Given the description of an element on the screen output the (x, y) to click on. 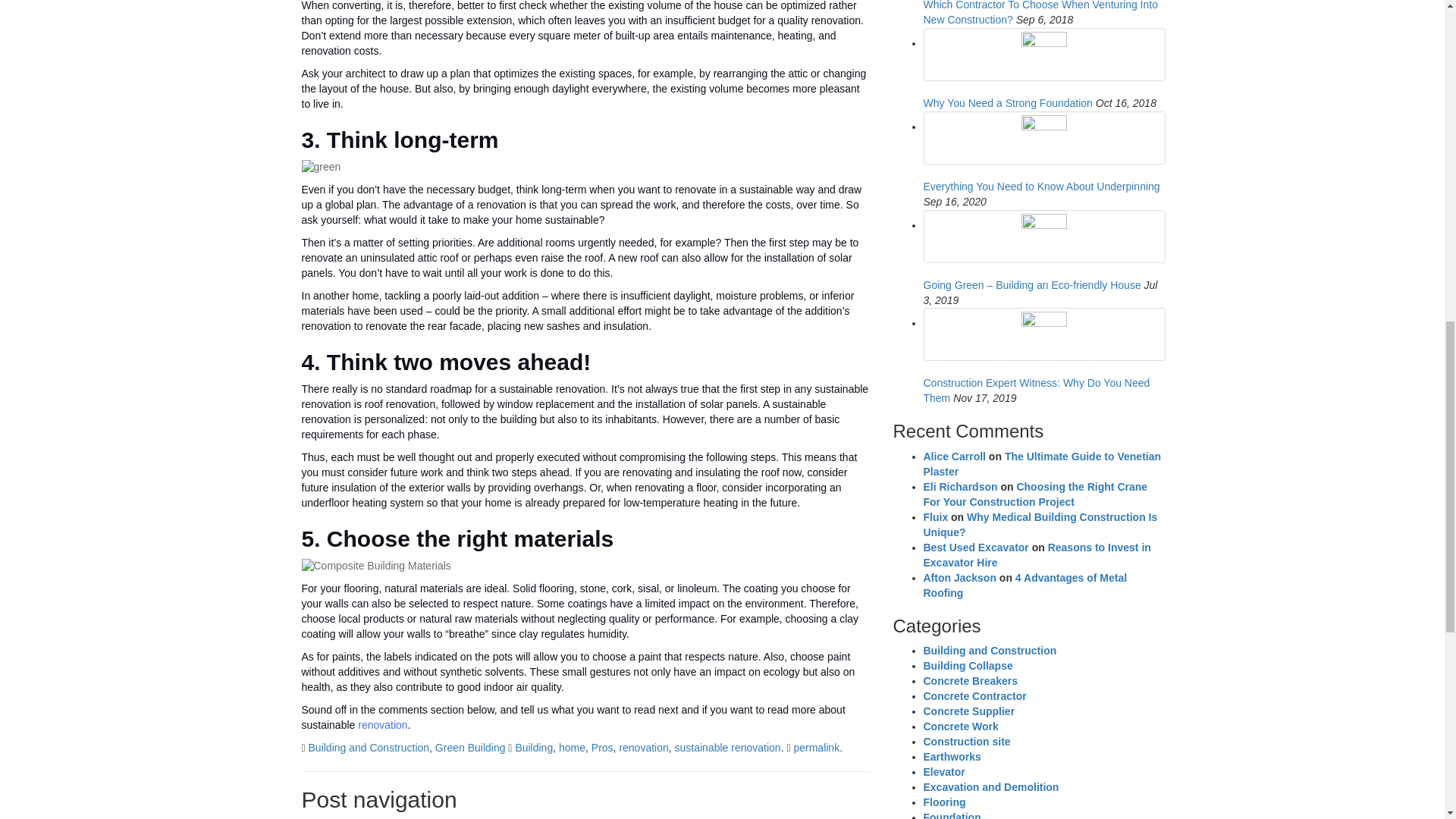
Building (534, 747)
Green Building (470, 747)
renovation (382, 725)
Building and Construction (368, 747)
home (572, 747)
sustainable renovation (727, 747)
permalink (816, 747)
renovation (643, 747)
Pros (601, 747)
